Given the description of an element on the screen output the (x, y) to click on. 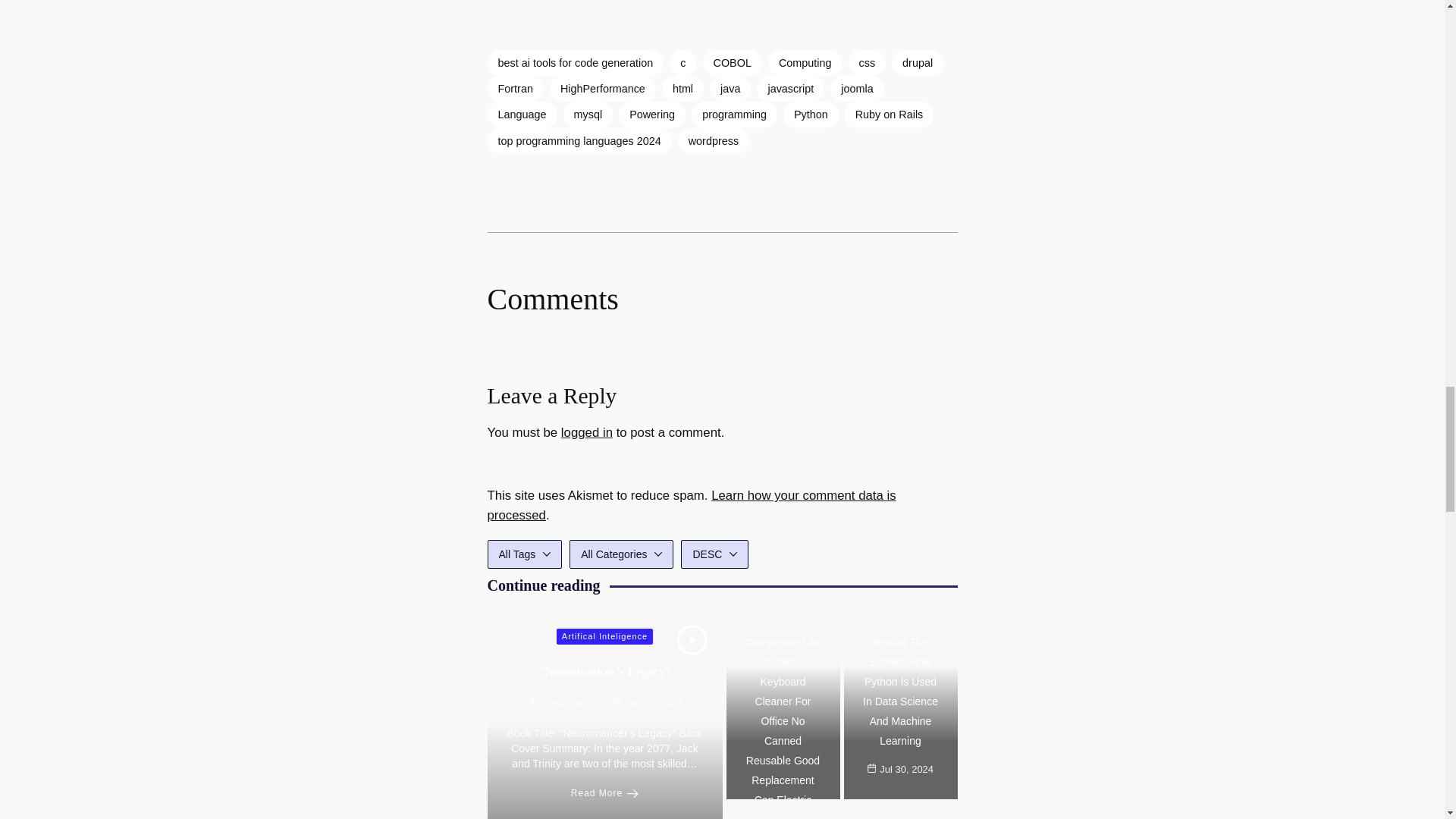
COBOL (732, 62)
Fortran (514, 88)
Computing (805, 62)
drupal (917, 62)
html (682, 88)
HighPerformance (603, 88)
javascript (790, 88)
java (730, 88)
c (682, 62)
css (866, 62)
